Given the description of an element on the screen output the (x, y) to click on. 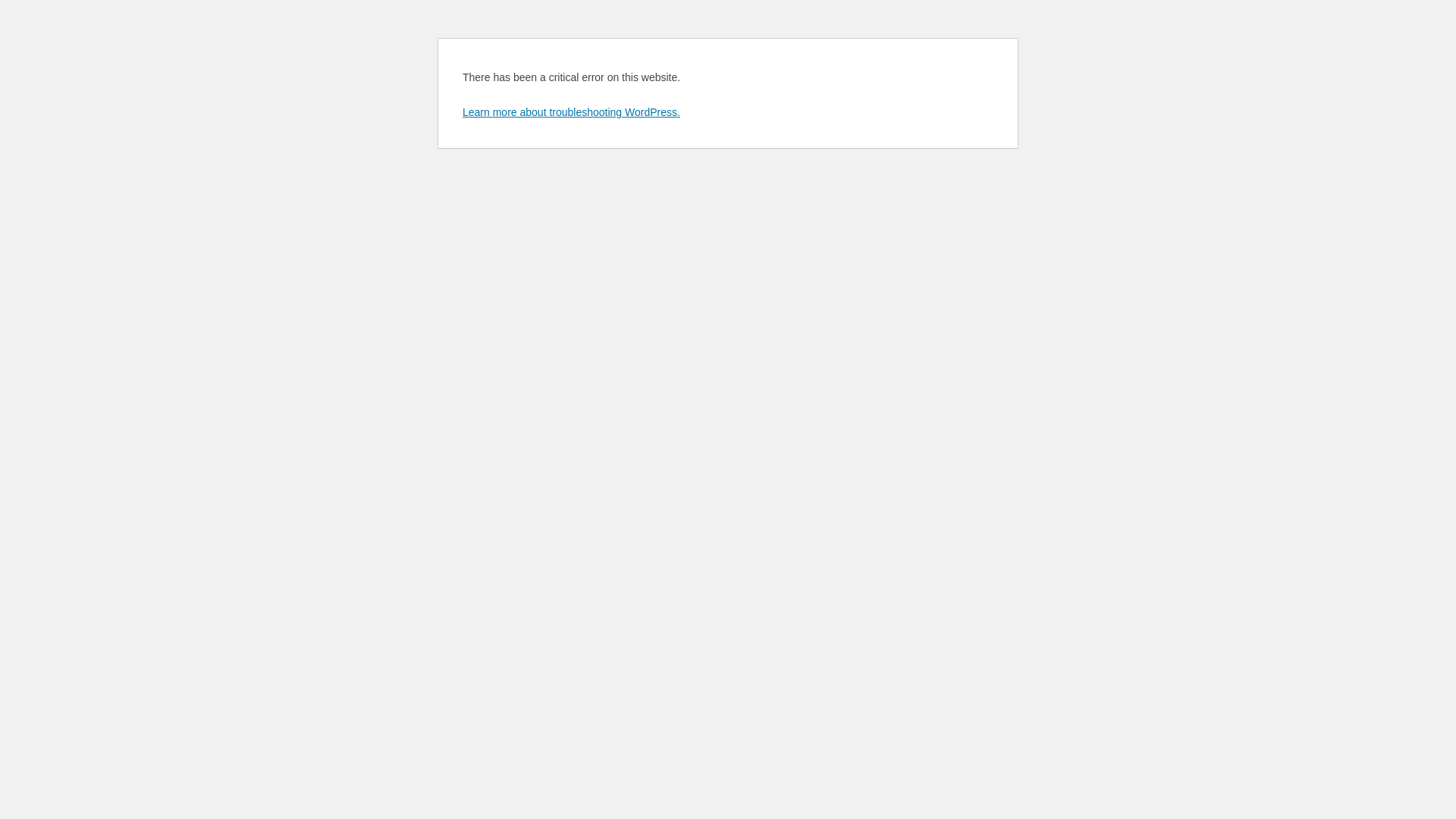
Learn more about troubleshooting WordPress. Element type: text (571, 112)
